Given the description of an element on the screen output the (x, y) to click on. 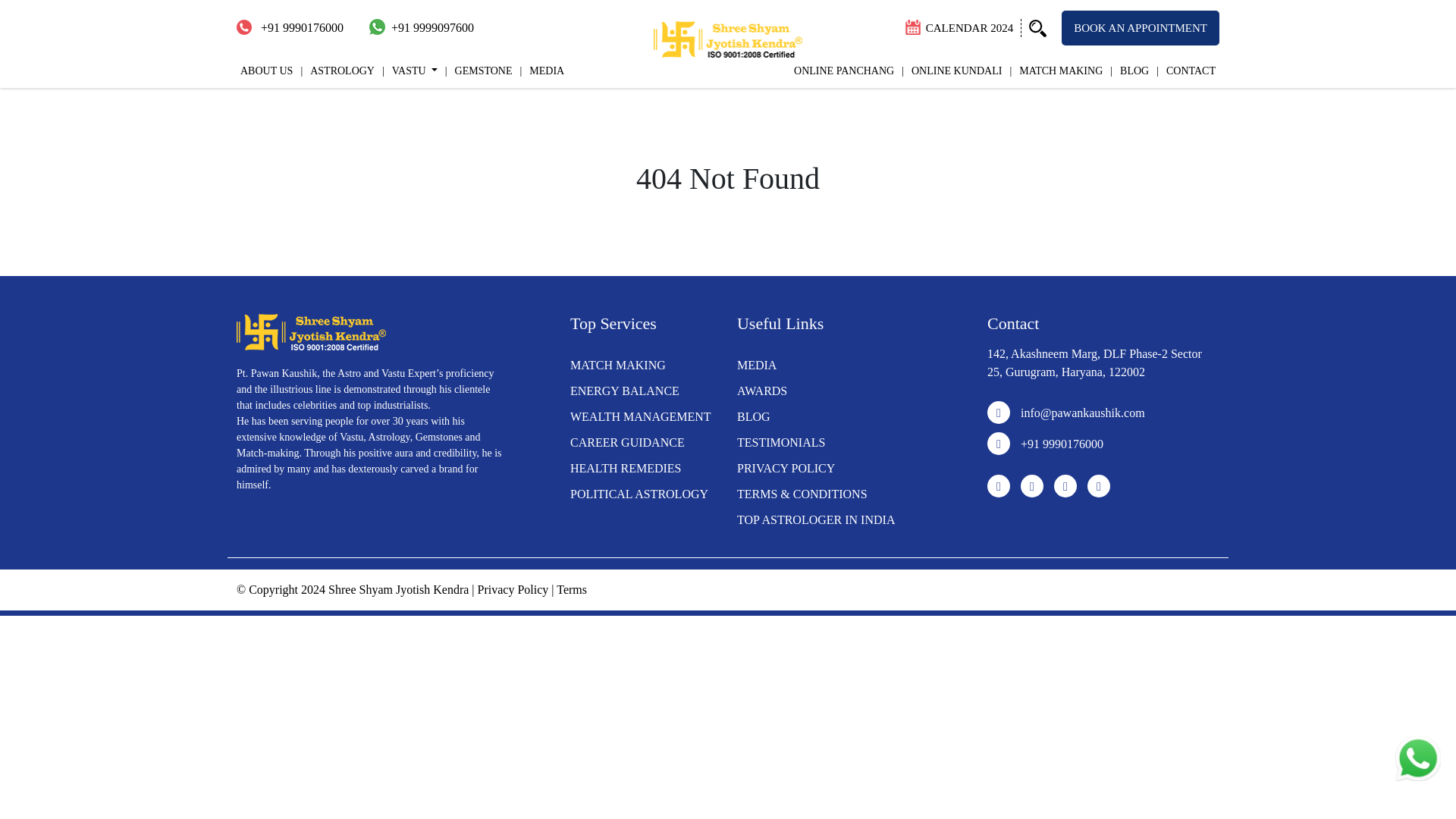
MEDIA (541, 70)
ASTROLOGY (337, 70)
MATCH MAKING (1056, 70)
ENERGY BALANCE (624, 390)
MEDIA (756, 364)
ONLINE PANCHANG (844, 70)
AWARDS (761, 390)
GEMSTONE (478, 70)
CAREER GUIDANCE (627, 441)
HEALTH REMEDIES (625, 468)
POLITICAL ASTROLOGY (638, 493)
WEALTH MANAGEMENT (640, 416)
TOP ASTROLOGER IN INDIA (815, 519)
TESTIMONIALS (780, 441)
ONLINE KUNDALI (952, 70)
